Given the description of an element on the screen output the (x, y) to click on. 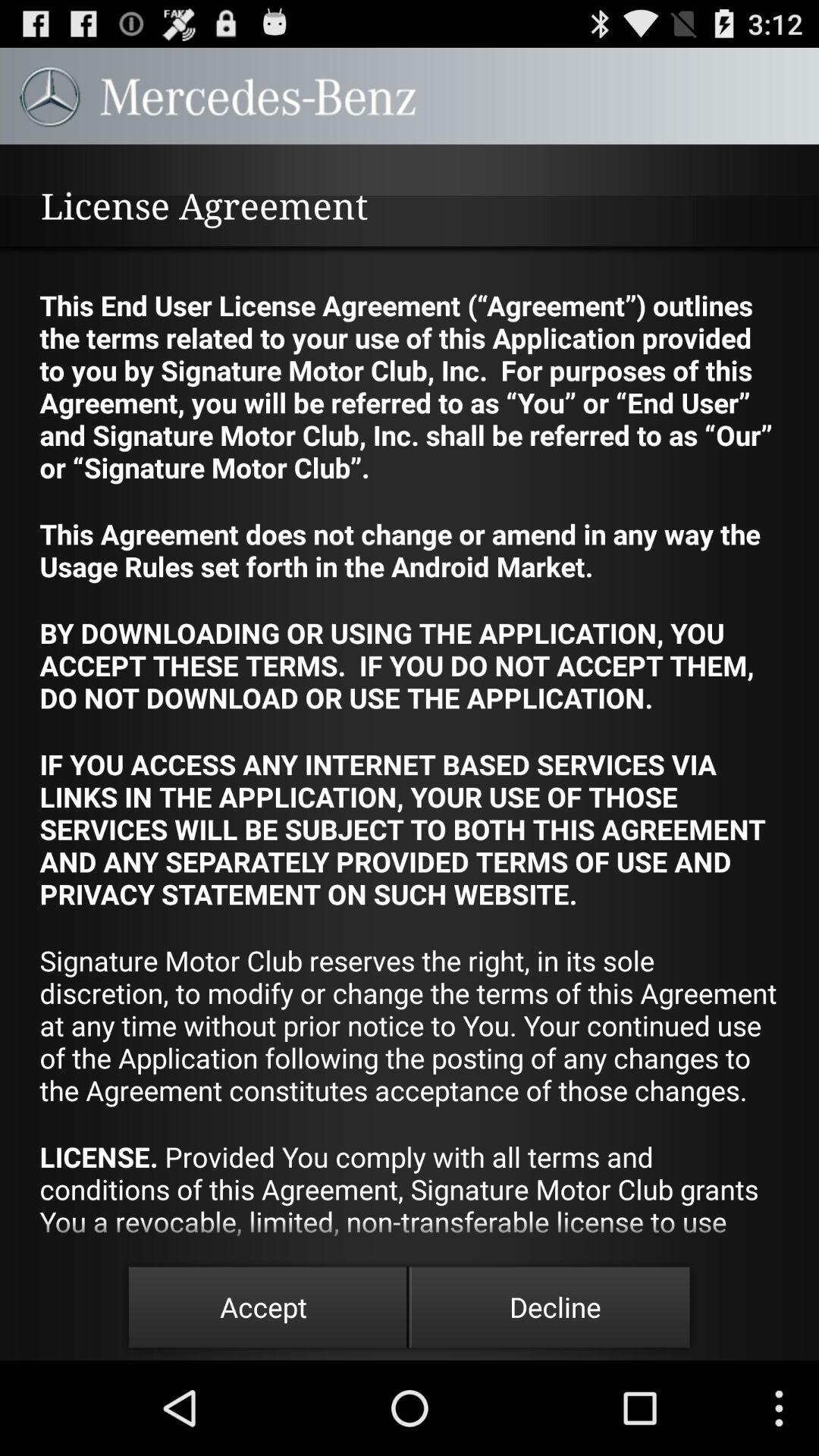
tap decline at the bottom right corner (554, 1306)
